Given the description of an element on the screen output the (x, y) to click on. 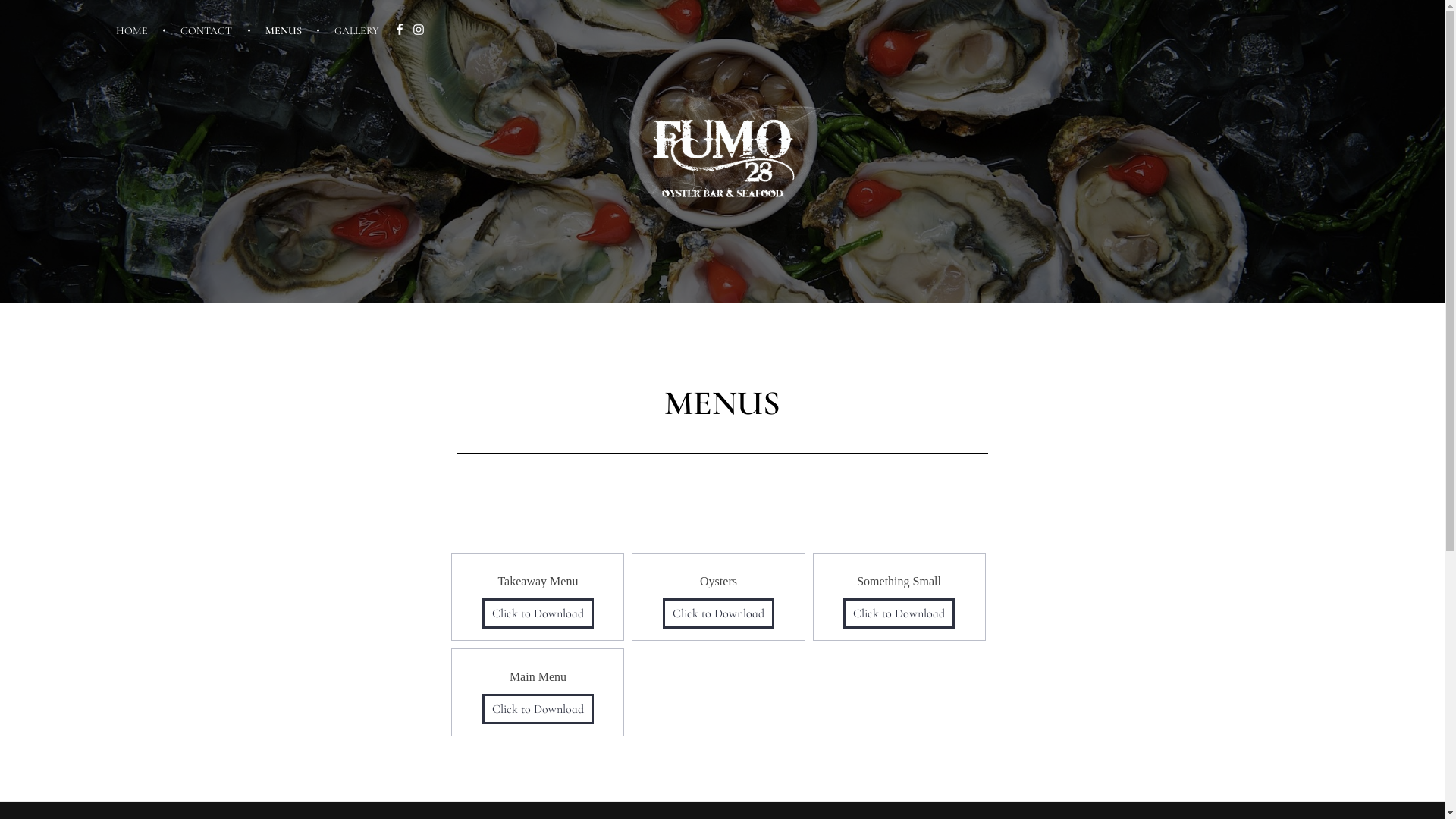
Click to Download Element type: text (537, 708)
GALLERY Element type: text (349, 30)
MENUS Element type: text (285, 30)
Click to Download Element type: text (898, 613)
Click to Download Element type: text (718, 613)
HOME Element type: text (140, 30)
CONTACT Element type: text (208, 30)
Click to Download Element type: text (537, 613)
